Given the description of an element on the screen output the (x, y) to click on. 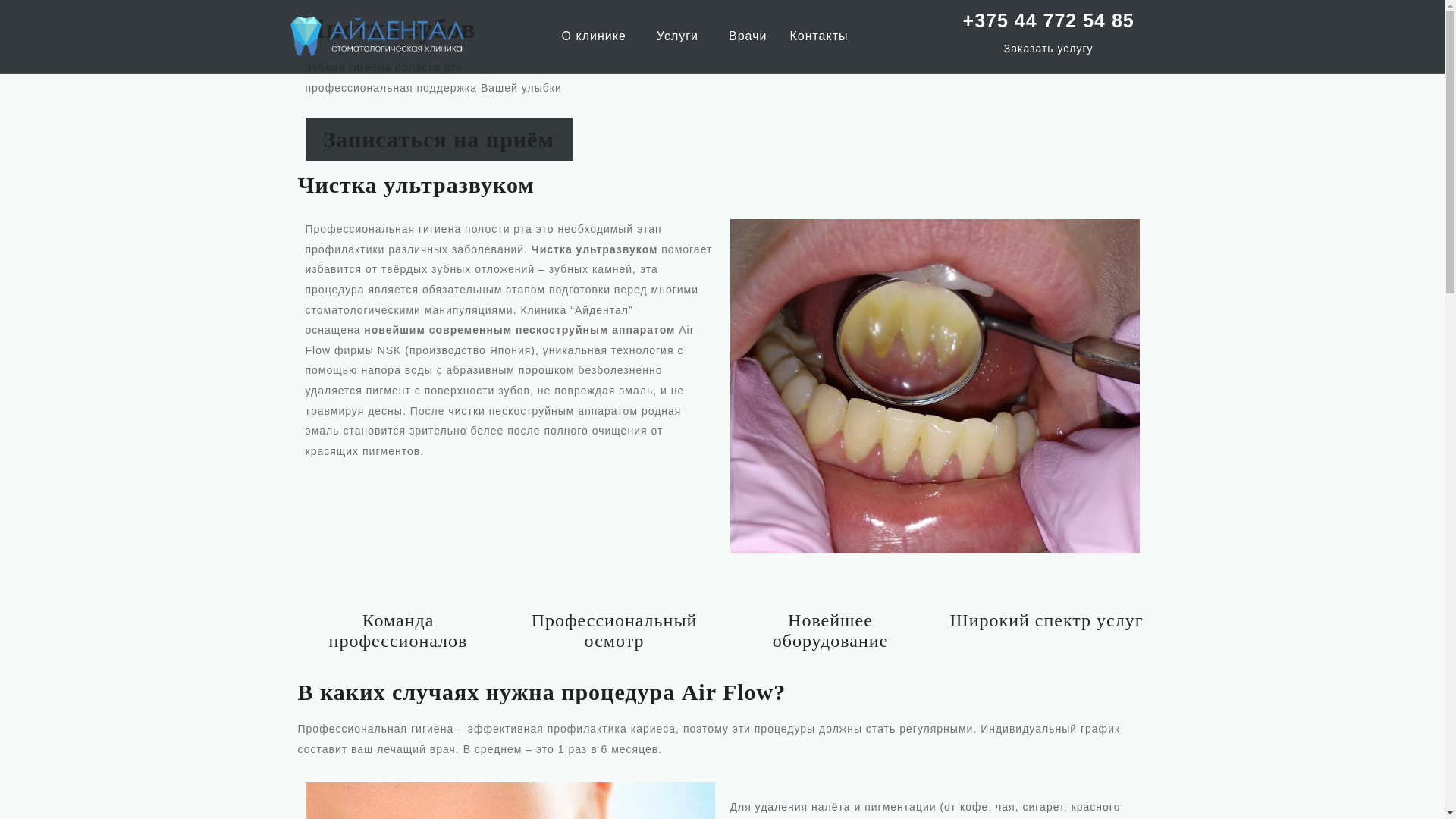
+375 44 772 54 85 Element type: text (1048, 20)
